Given the description of an element on the screen output the (x, y) to click on. 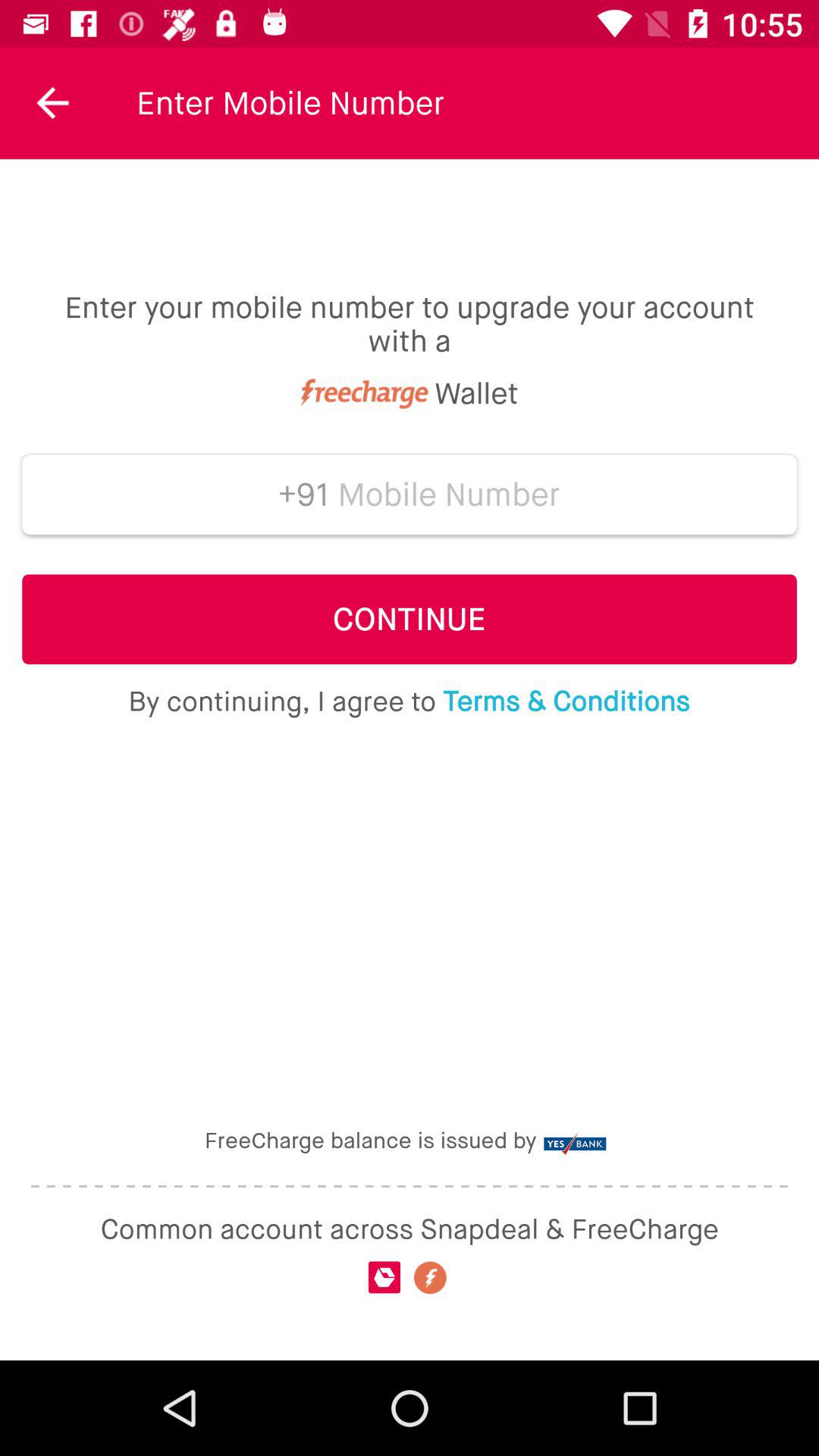
swipe to the continue icon (409, 619)
